Given the description of an element on the screen output the (x, y) to click on. 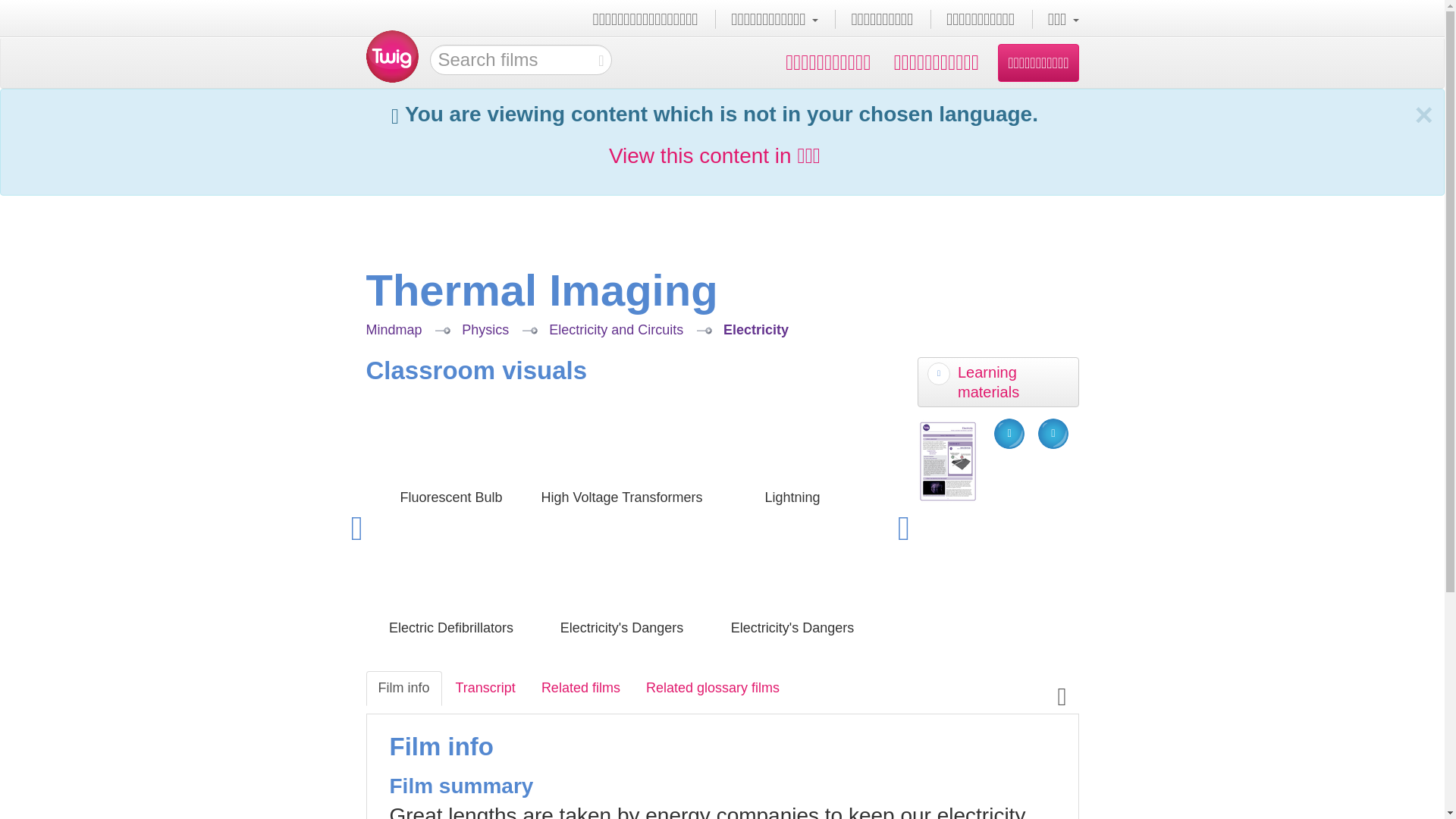
Mindmap (393, 329)
Electricity (756, 329)
Learning materials (997, 382)
Physics (484, 329)
Film info (403, 687)
Transcript (485, 687)
Related films (580, 687)
Electricity and Circuits (615, 329)
Download Whole Topic Handout ZIP (1053, 433)
